Given the description of an element on the screen output the (x, y) to click on. 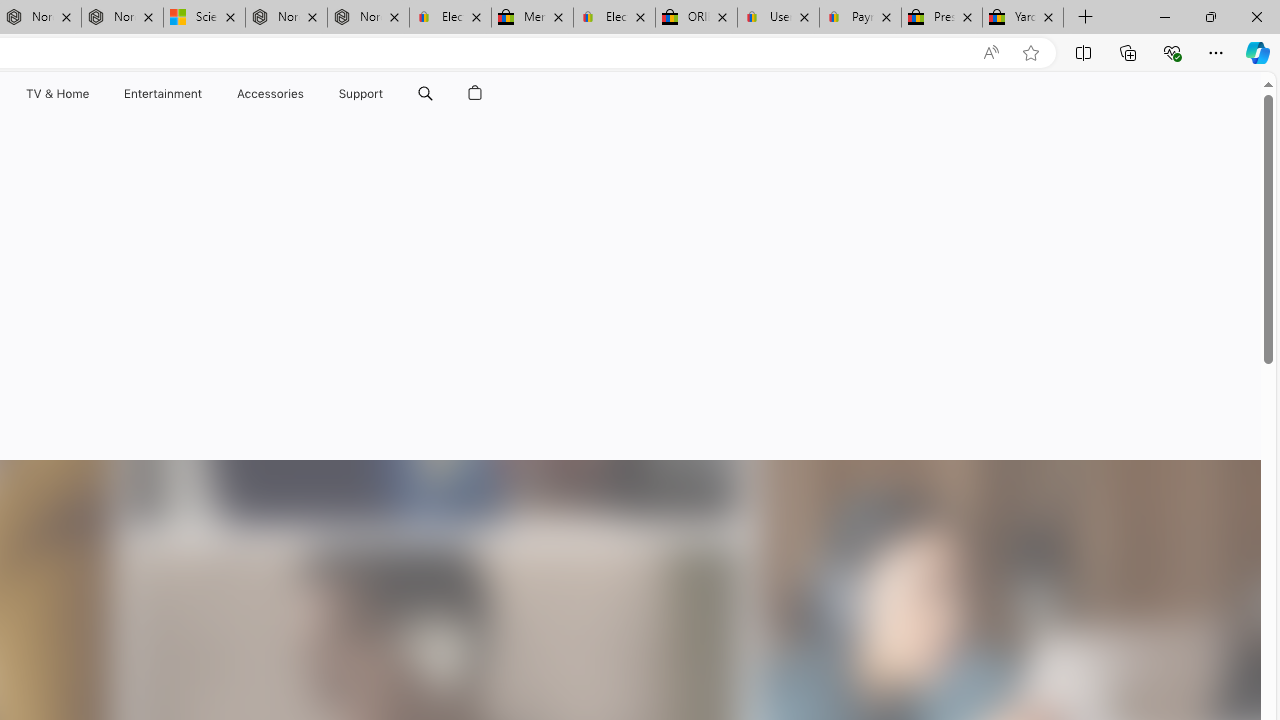
Search Support (425, 93)
Accessories menu (306, 93)
Accessories (269, 93)
Entertainment menu (205, 93)
